Given the description of an element on the screen output the (x, y) to click on. 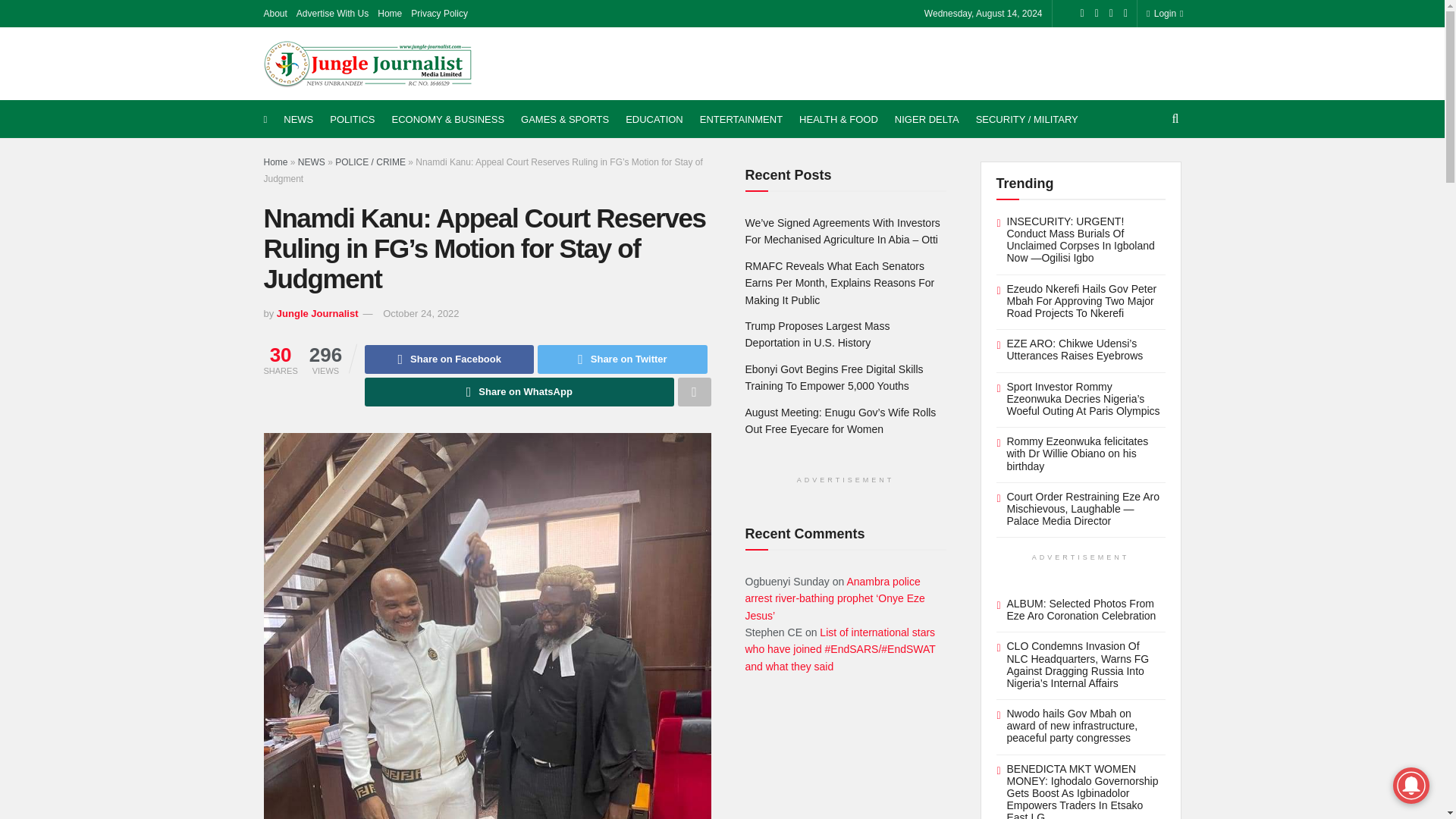
Advertisement (904, 61)
Privacy Policy (438, 13)
NIGER DELTA (927, 119)
EDUCATION (654, 119)
Login (1161, 13)
ENTERTAINMENT (741, 119)
POLITICS (352, 119)
Advertise With Us (332, 13)
NEWS (298, 119)
